Given the description of an element on the screen output the (x, y) to click on. 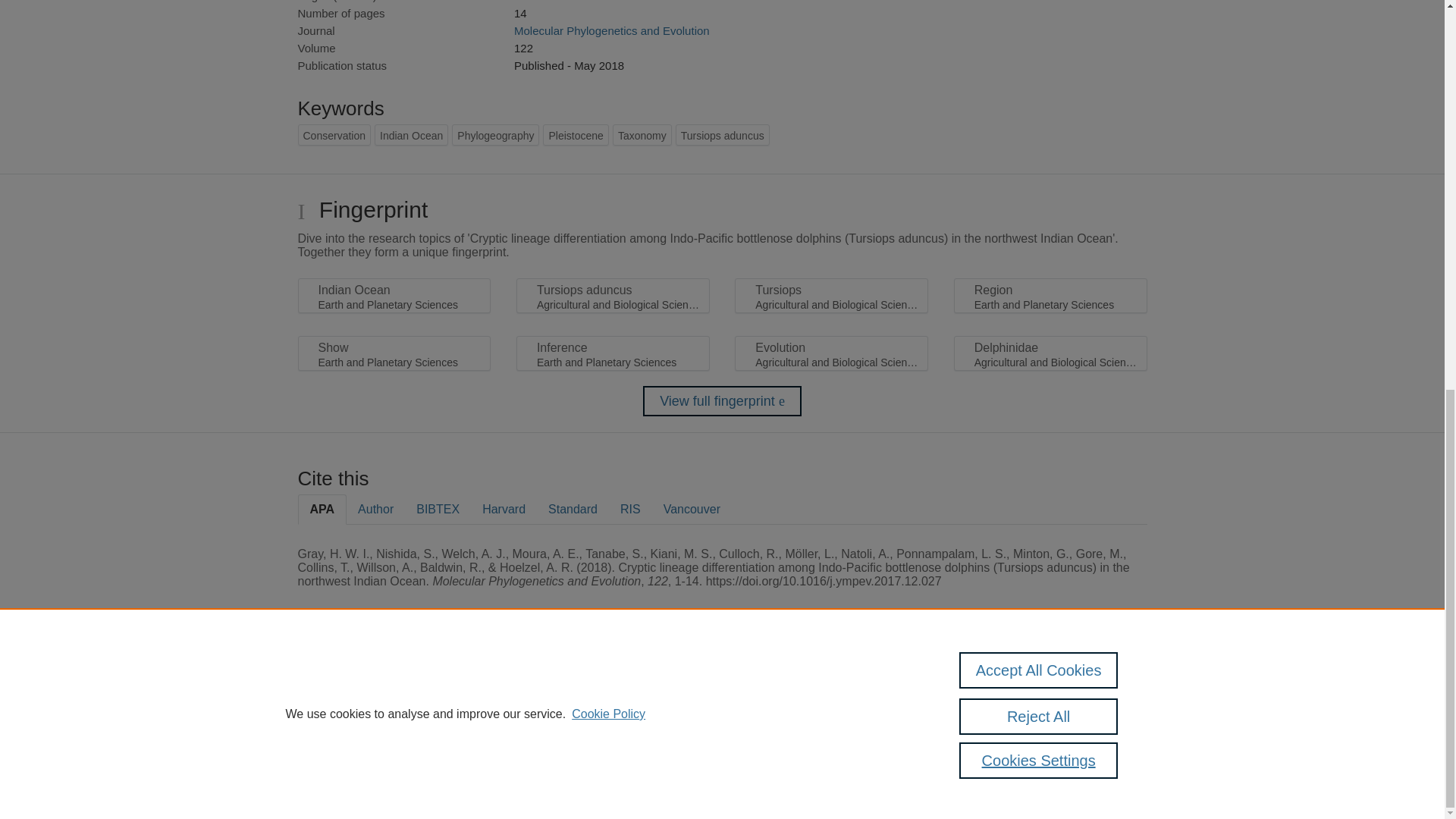
About web accessibility (1090, 692)
View full fingerprint (722, 400)
Elsevier B.V. (506, 707)
Log in to ResearchNow (347, 781)
Molecular Phylogenetics and Evolution (611, 30)
Pure (362, 686)
use of cookies (796, 739)
Scopus (394, 686)
Cookies Settings (334, 760)
